Given the description of an element on the screen output the (x, y) to click on. 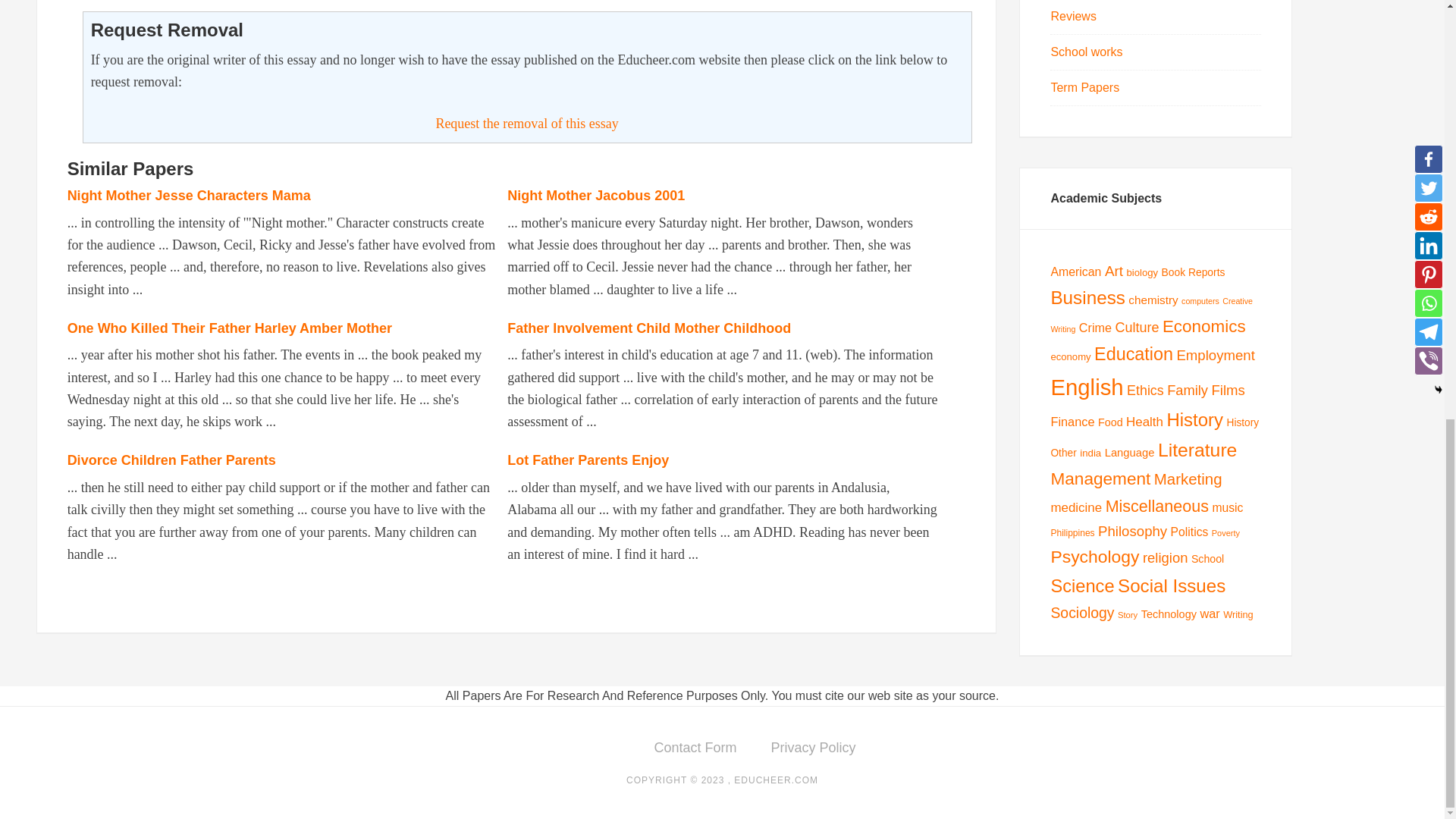
Term Papers (1084, 87)
American (1074, 271)
Reviews (1072, 15)
Divorce Children Father Parents (171, 459)
Night Mother Jacobus 2001 (595, 195)
One Who Killed Their Father Harley Amber Mother (228, 328)
School works (1085, 51)
Night Mother Jesse Characters Mama (188, 195)
Request the removal of this essay (526, 123)
Lot Father Parents Enjoy (587, 459)
Father Involvement Child Mother Childhood (648, 328)
